Given the description of an element on the screen output the (x, y) to click on. 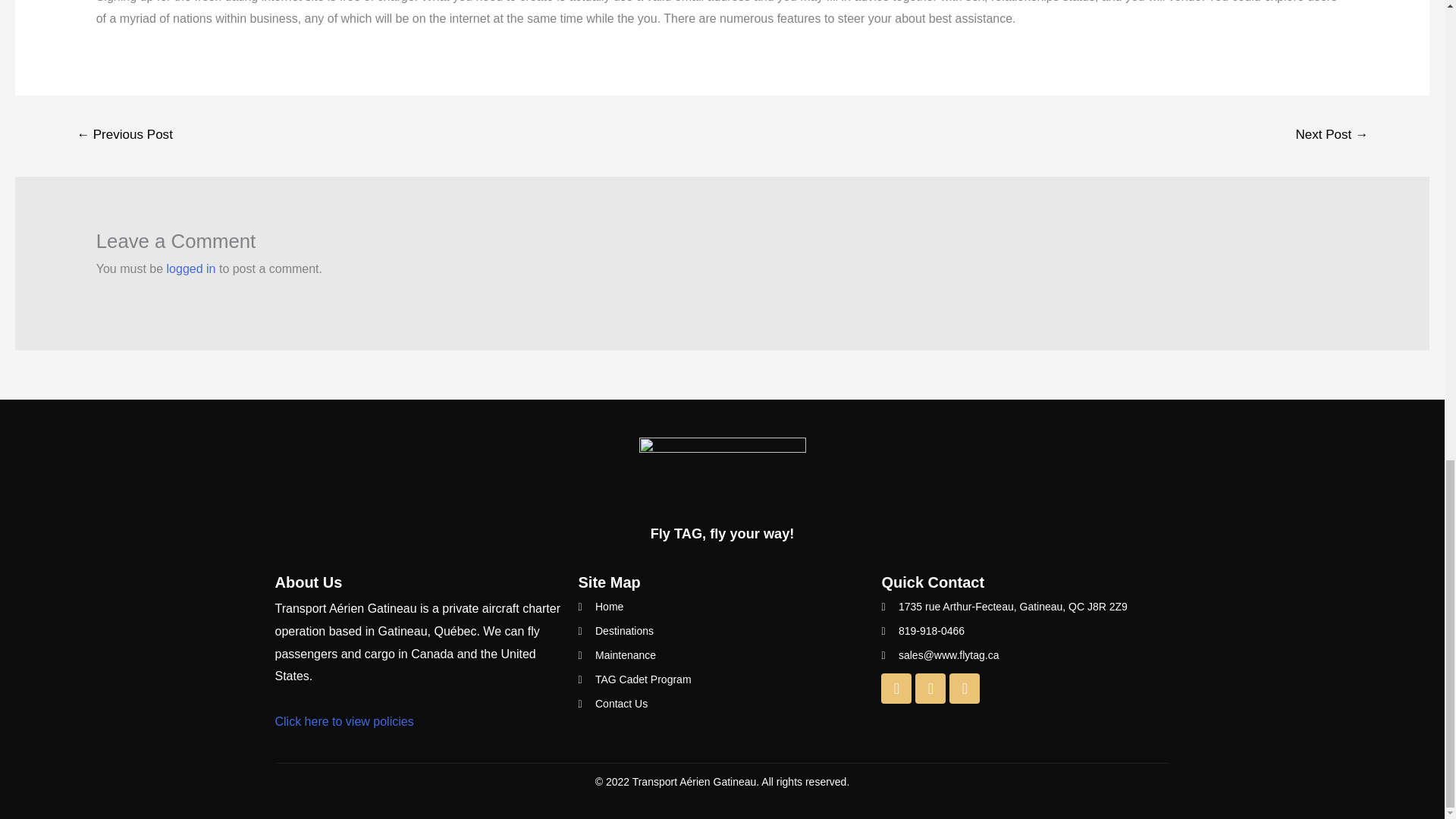
logged in (191, 268)
Click here to view policies (344, 721)
